Given the description of an element on the screen output the (x, y) to click on. 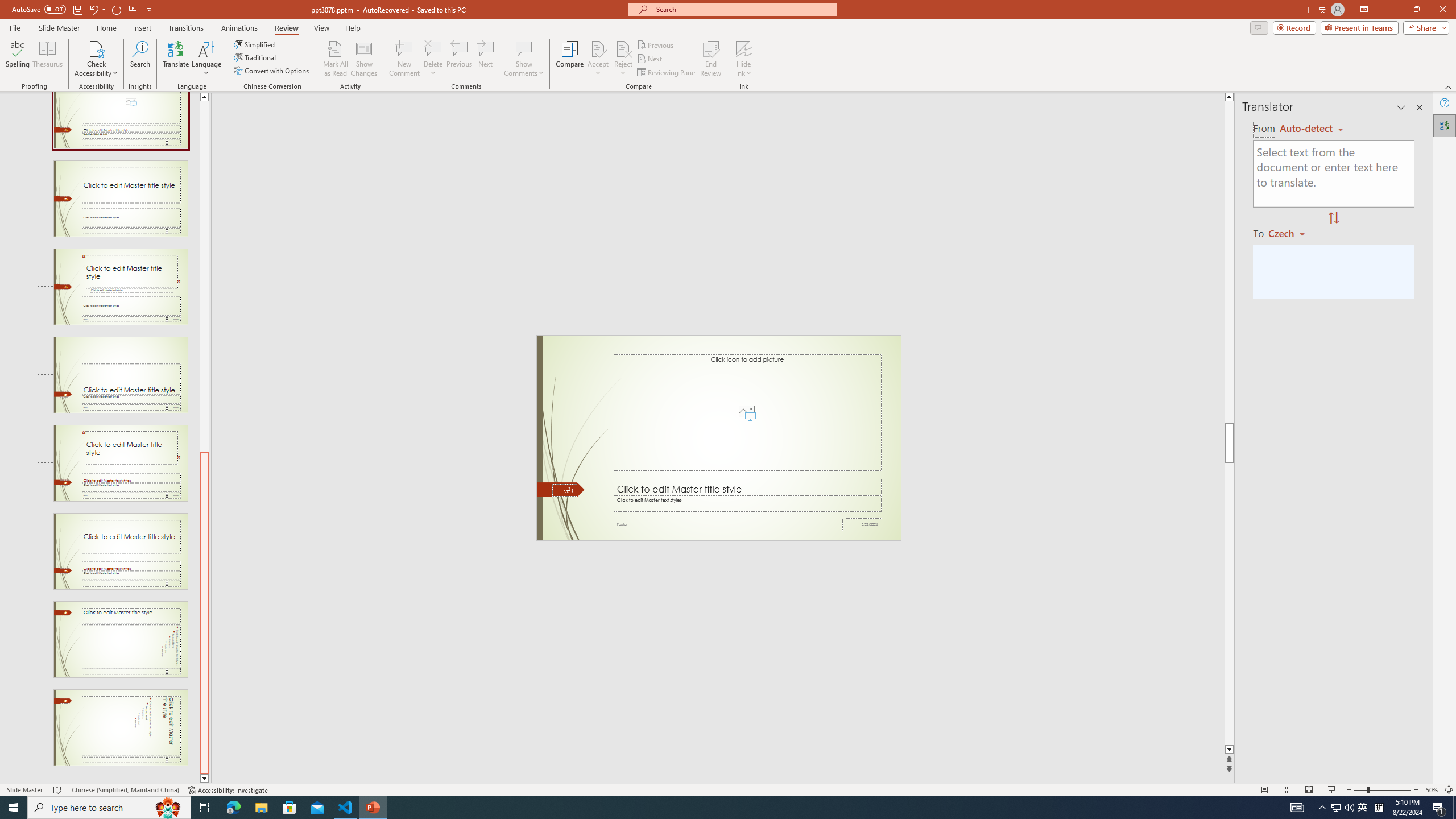
Slide Name Card Layout: used by no slides (120, 374)
Slide Number (563, 490)
Slide Master (59, 28)
Show Comments (524, 58)
Slide Vertical Title and Text Layout: used by no slides (120, 727)
Hide Ink (743, 48)
